Given the description of an element on the screen output the (x, y) to click on. 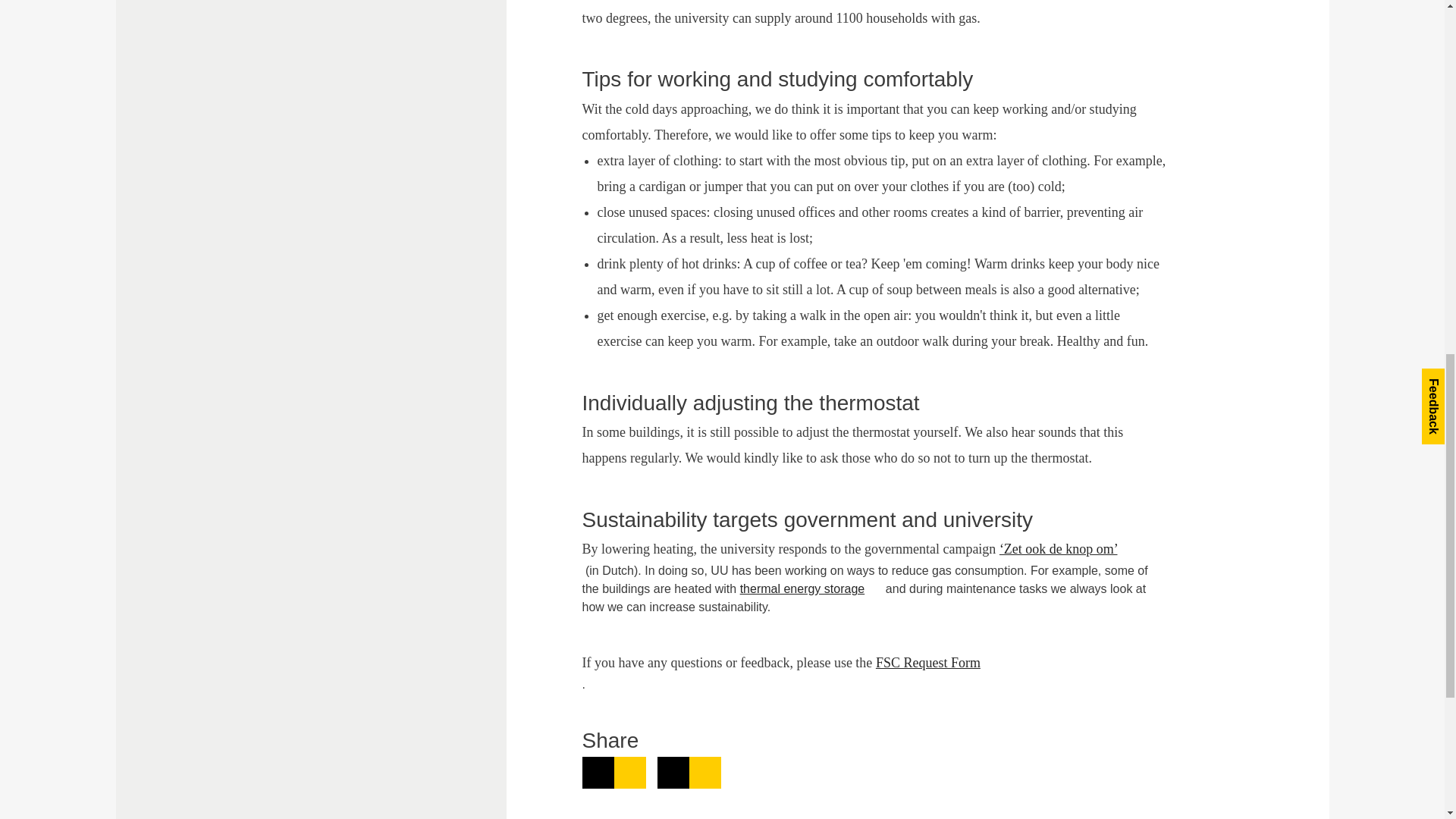
Share on LinkedIn (614, 772)
Share on LinkedIn (614, 772)
FSC Request Form (937, 662)
Share on Facebook (688, 772)
Share on Facebook (688, 772)
